Given the description of an element on the screen output the (x, y) to click on. 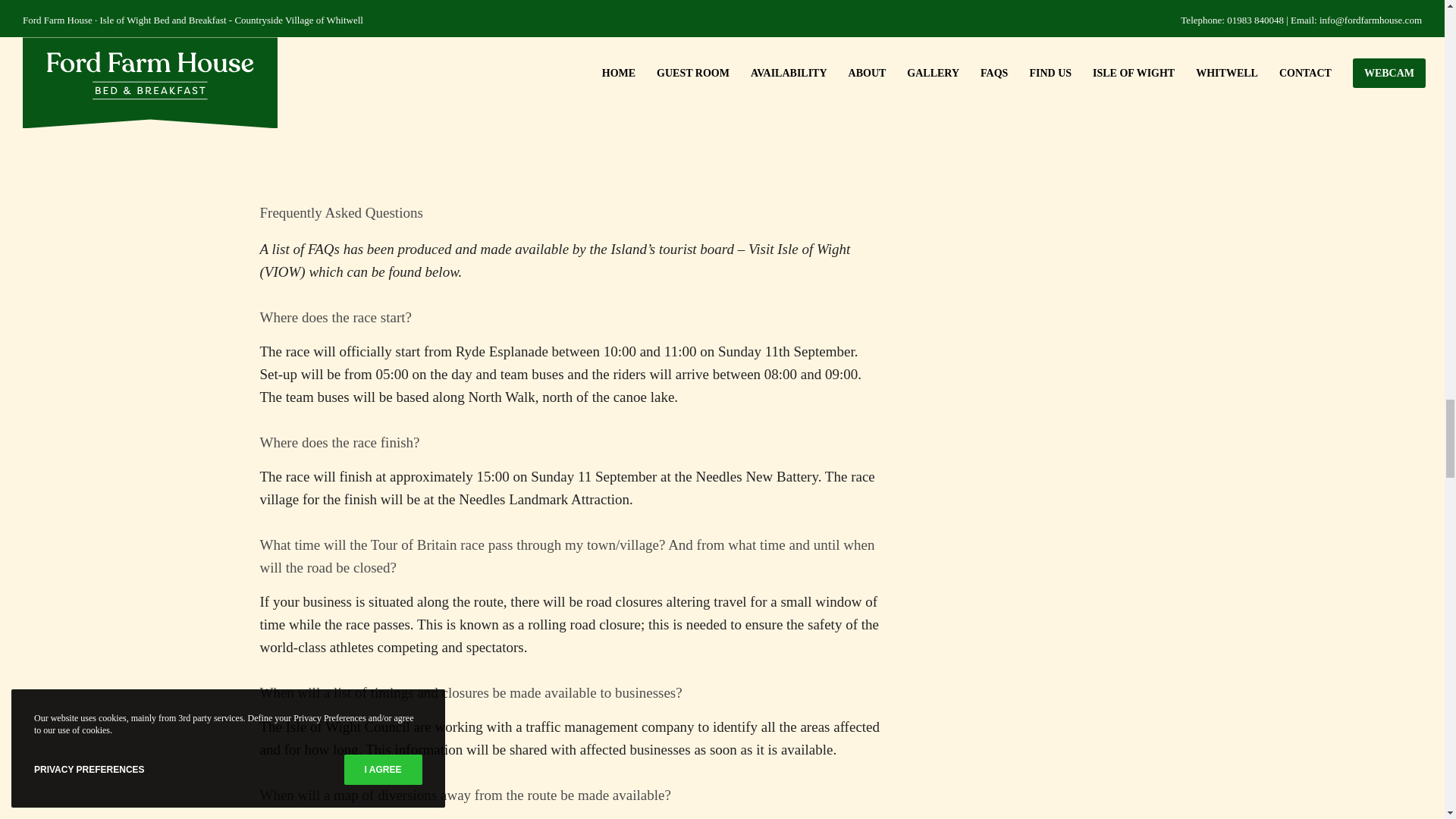
A Guide to the Tour of Britain (571, 78)
